Given the description of an element on the screen output the (x, y) to click on. 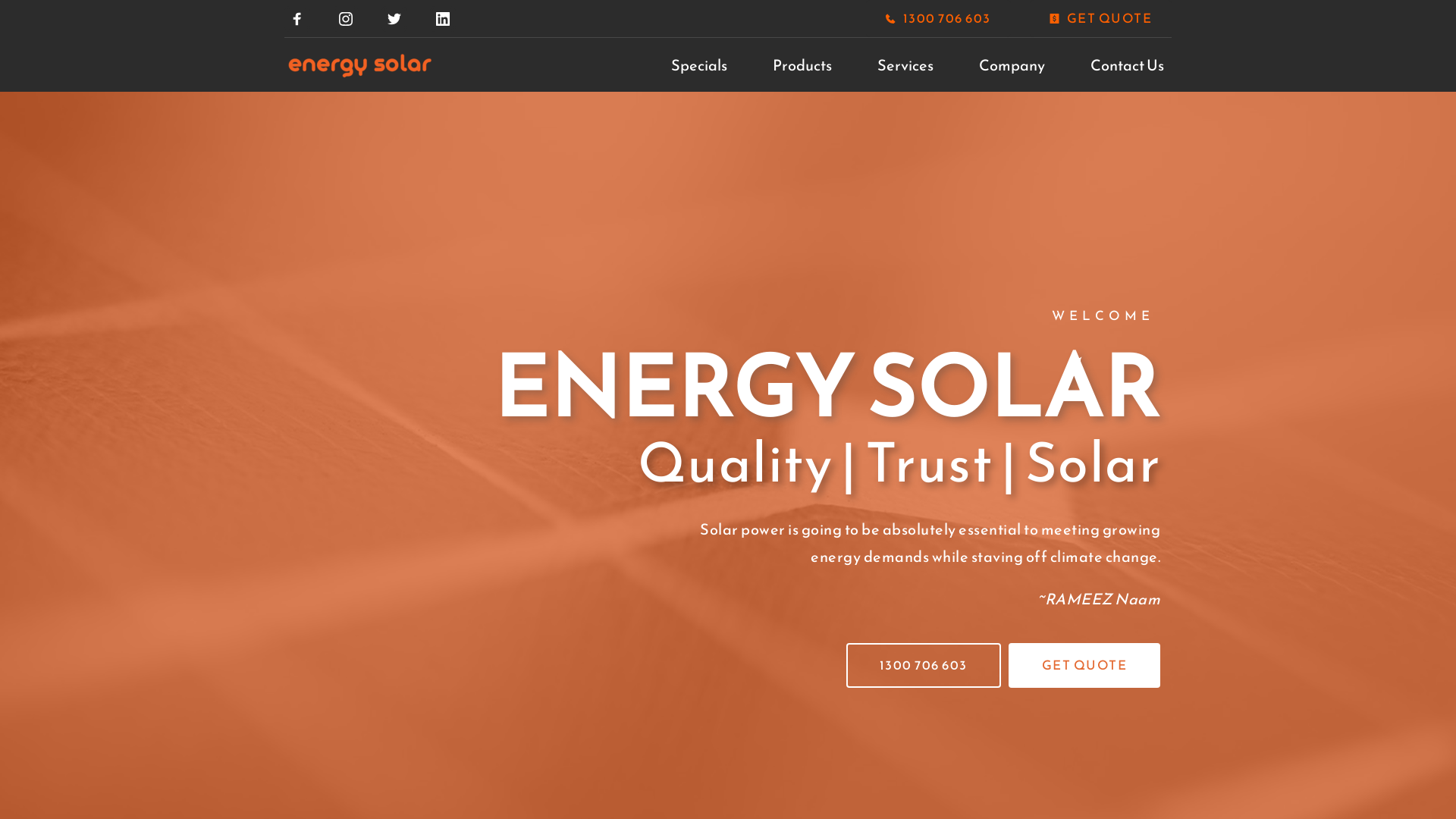
GET QUOTE Element type: text (1084, 665)
1300 706 603 Element type: text (923, 665)
Products Element type: text (801, 64)
Services Element type: text (905, 64)
Contact Us Element type: text (1126, 64)
Company Element type: text (1011, 64)
Specials Element type: text (699, 64)
GET QUOTE Element type: text (1100, 18)
1300 706 603 Element type: text (938, 18)
